Given the description of an element on the screen output the (x, y) to click on. 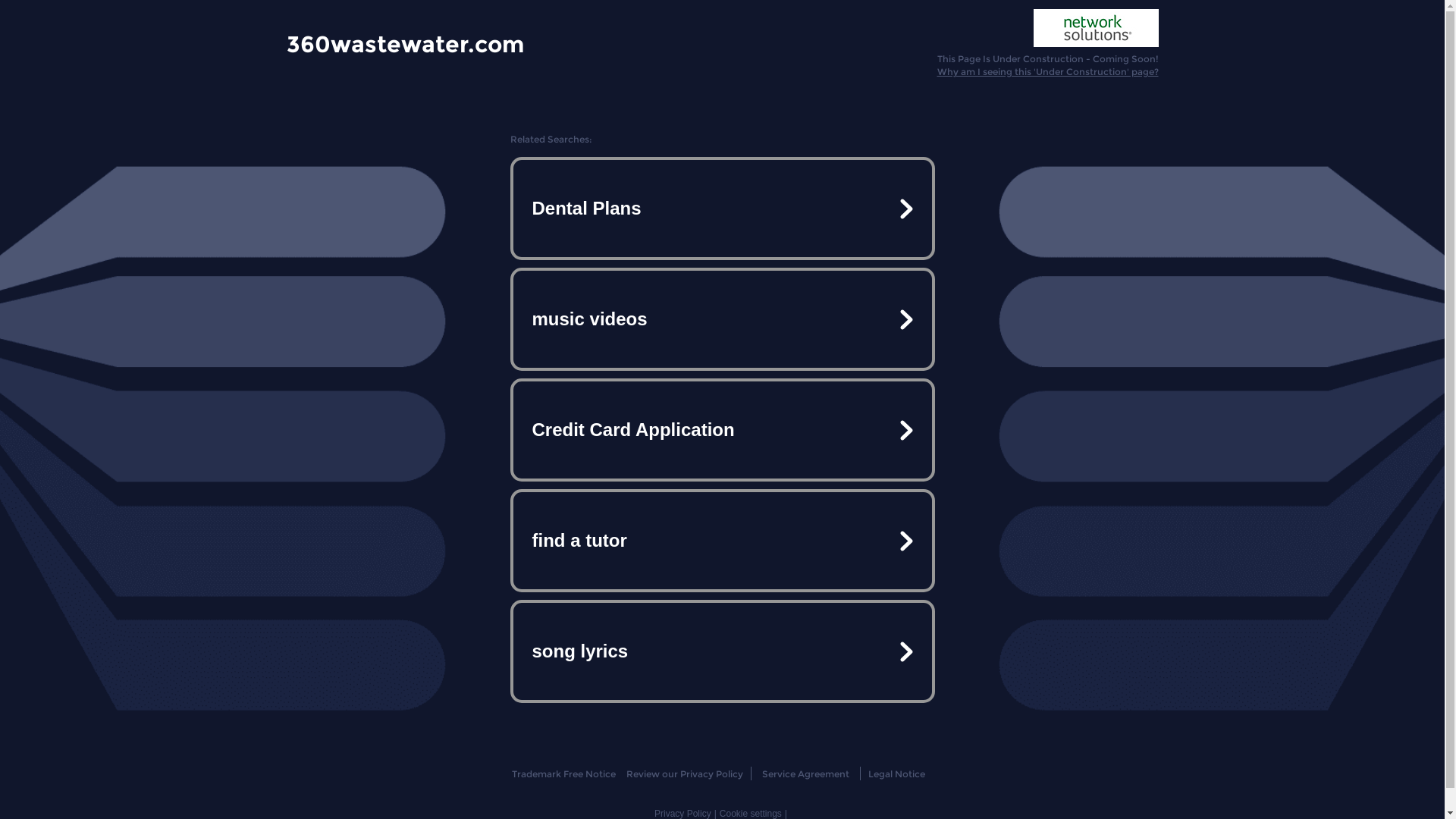
song lyrics Element type: text (721, 650)
Service Agreement Element type: text (805, 773)
Why am I seeing this 'Under Construction' page? Element type: text (1047, 71)
Trademark Free Notice Element type: text (563, 773)
360wastewater.com Element type: text (405, 43)
Legal Notice Element type: text (896, 773)
Dental Plans Element type: text (721, 208)
music videos Element type: text (721, 318)
Review our Privacy Policy Element type: text (684, 773)
find a tutor Element type: text (721, 540)
Credit Card Application Element type: text (721, 429)
